Given the description of an element on the screen output the (x, y) to click on. 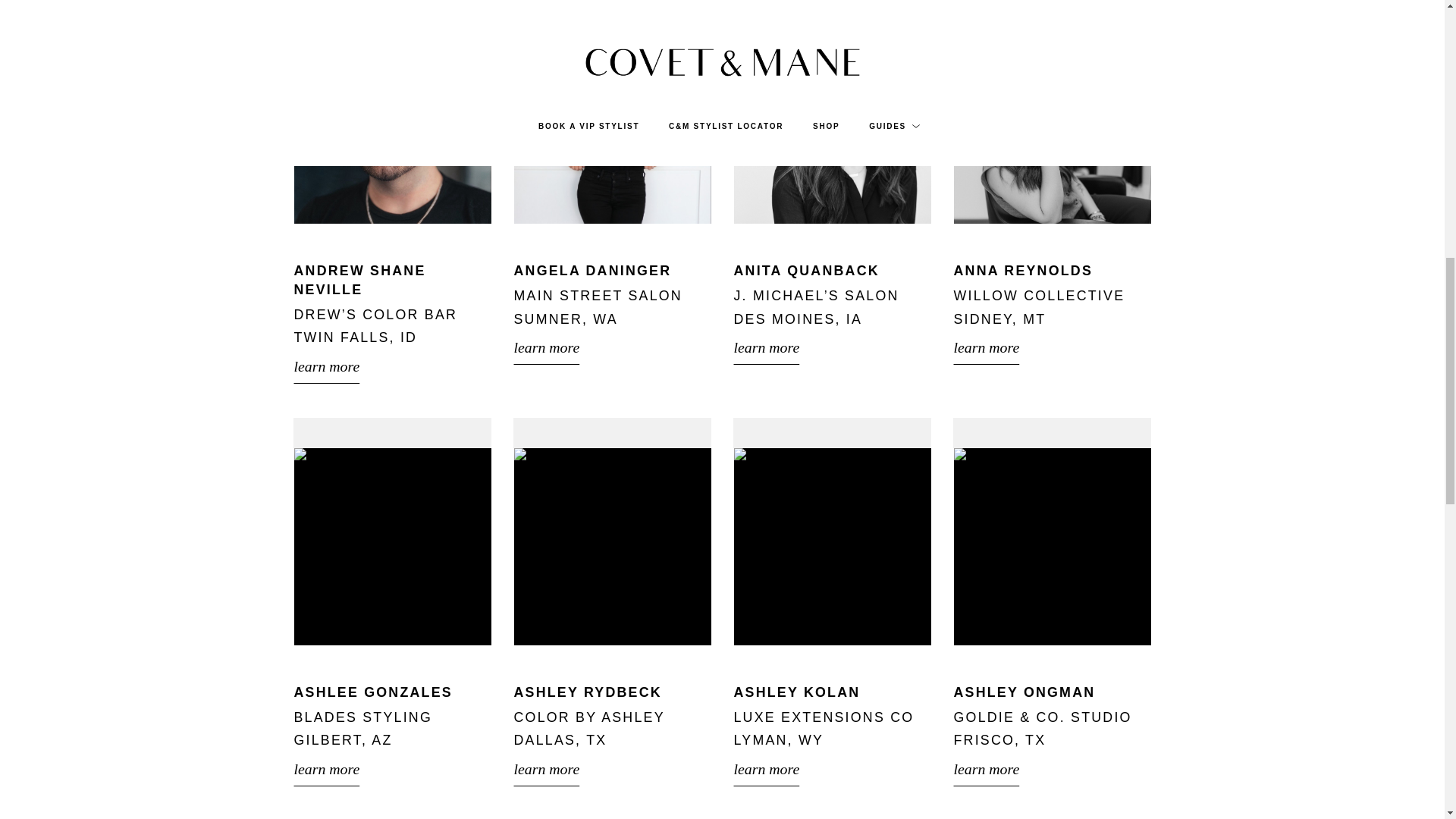
learn more (393, 366)
learn more (612, 347)
ANITA QUANBACK (806, 270)
learn more (832, 347)
ANDREW SHANE NEVILLE (360, 279)
ANGELA DANINGER (592, 270)
